Given the description of an element on the screen output the (x, y) to click on. 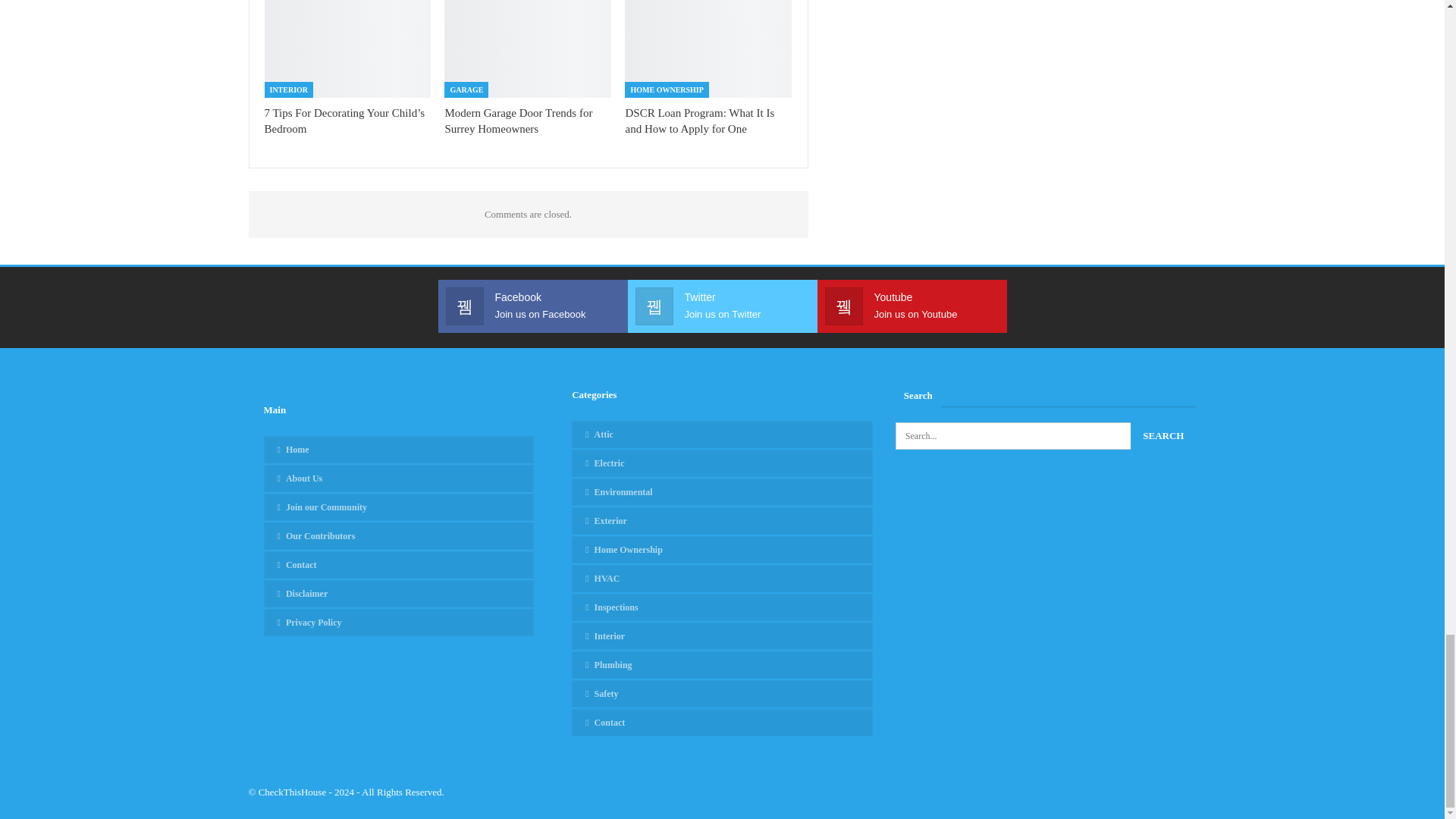
Search (1163, 435)
Search (1163, 435)
Modern Garage Door Trends for Surrey Homeowners (518, 121)
DSCR Loan Program: What It Is and How to Apply for One (708, 48)
Modern Garage Door Trends for Surrey Homeowners (527, 48)
